Given the description of an element on the screen output the (x, y) to click on. 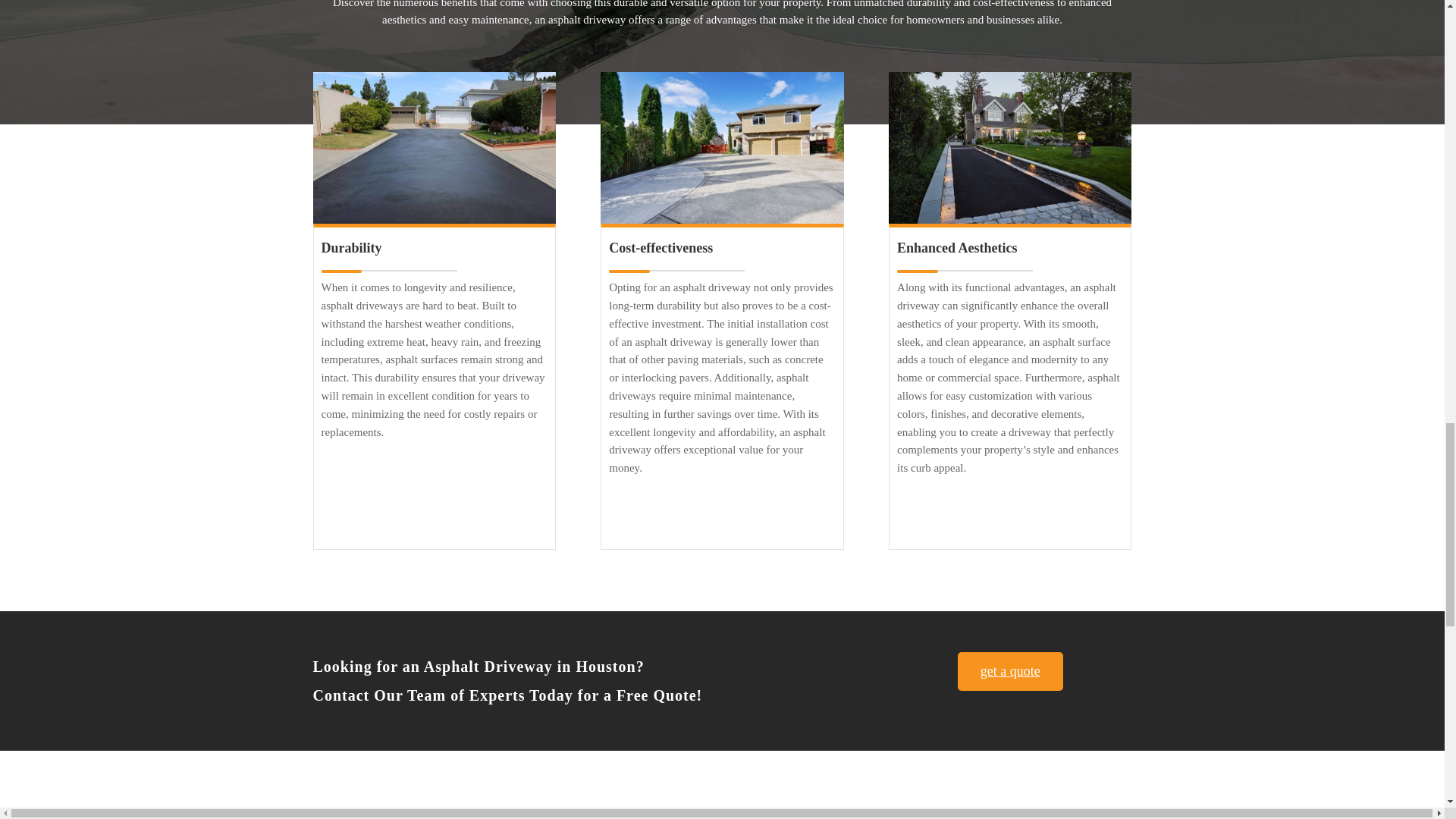
get a quote (1010, 671)
